Given the description of an element on the screen output the (x, y) to click on. 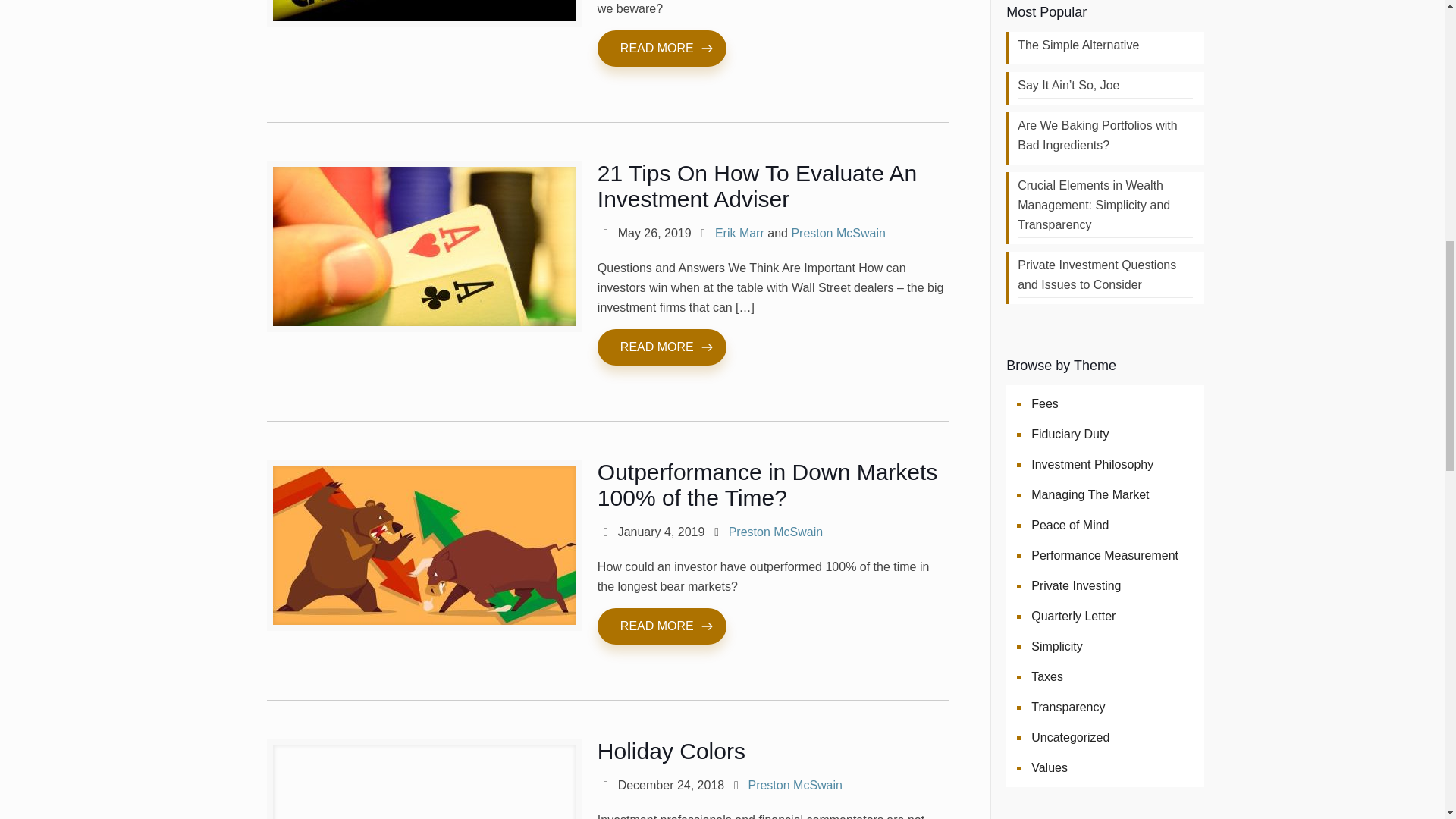
READ MORE (661, 48)
View all posts by Erik Marr (739, 232)
Preston McSwain (776, 531)
21 Tips On How To Evaluate An Investment Adviser (756, 185)
Erik Marr (739, 232)
READ MORE (661, 347)
Preston McSwain (837, 232)
View all posts by Preston McSwain (837, 232)
Preston McSwain (795, 784)
Holiday Colors (670, 750)
READ MORE (661, 626)
